Given the description of an element on the screen output the (x, y) to click on. 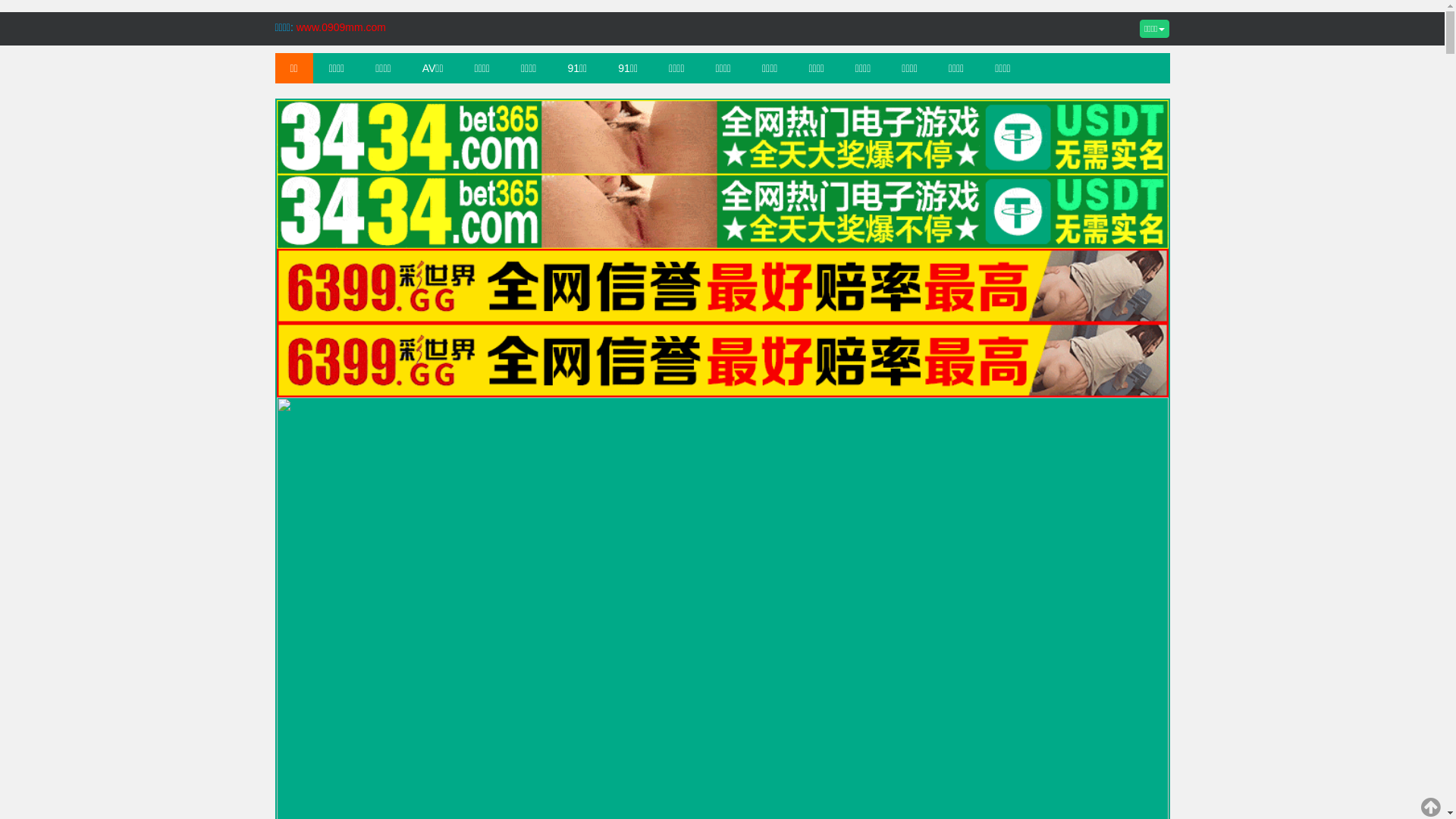
www.0909mm.com Element type: text (340, 27)
